Given the description of an element on the screen output the (x, y) to click on. 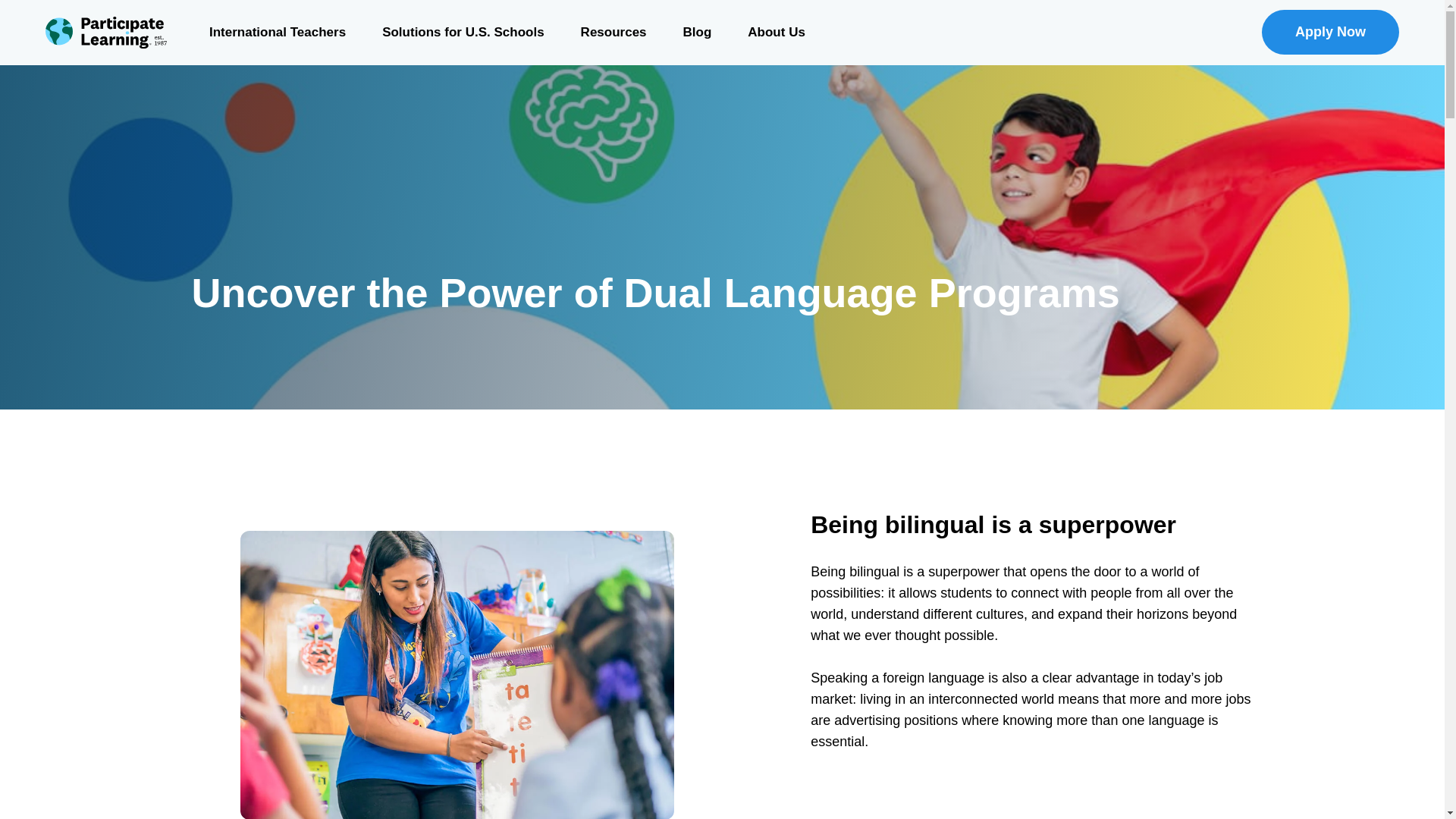
Resources (613, 32)
Blog (697, 32)
International Teachers (277, 32)
About Us (776, 32)
Apply Now (1330, 31)
